Given the description of an element on the screen output the (x, y) to click on. 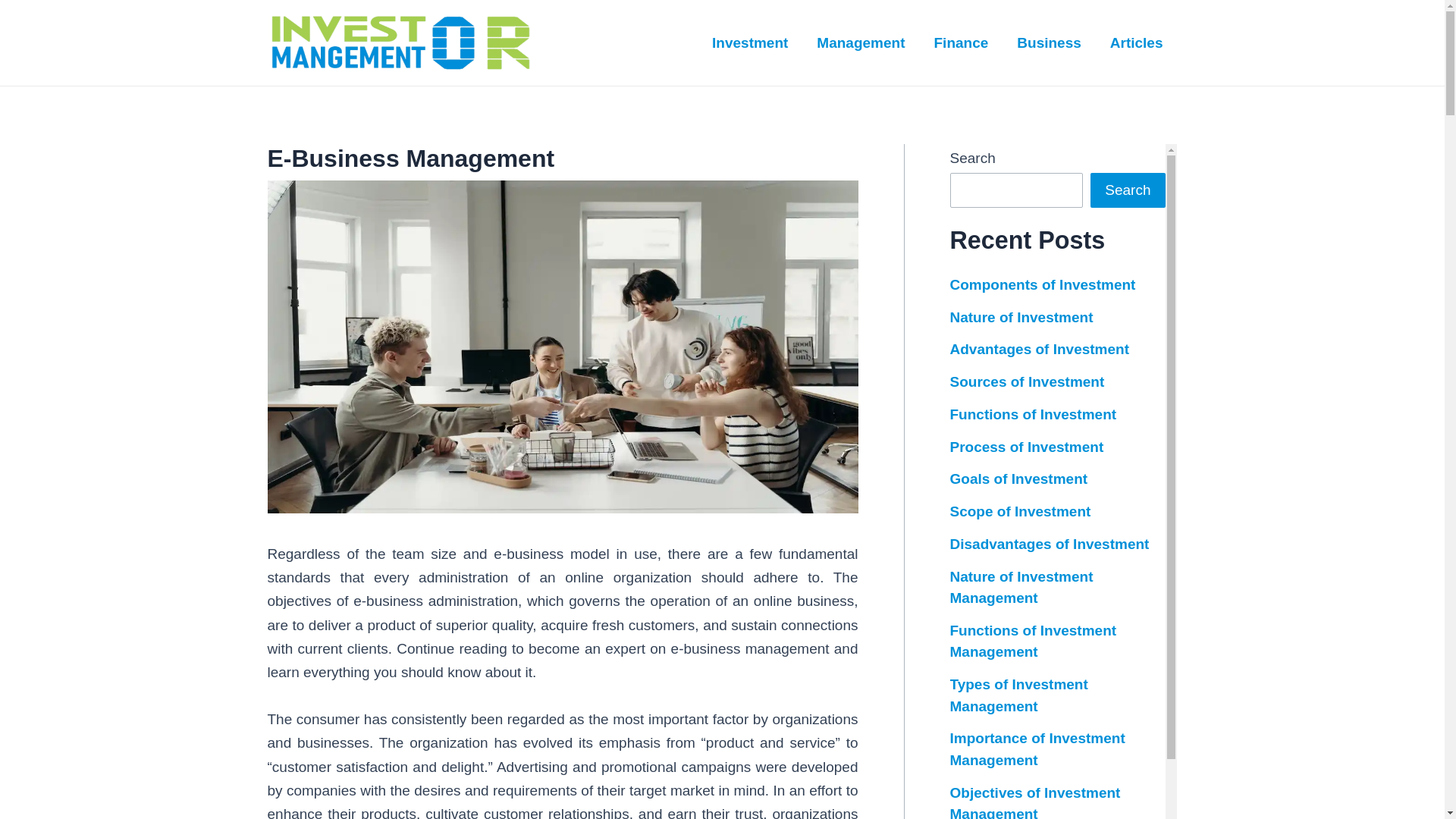
Finance (960, 42)
Investment (749, 42)
Articles (1136, 42)
Business (1048, 42)
Management (860, 42)
